Given the description of an element on the screen output the (x, y) to click on. 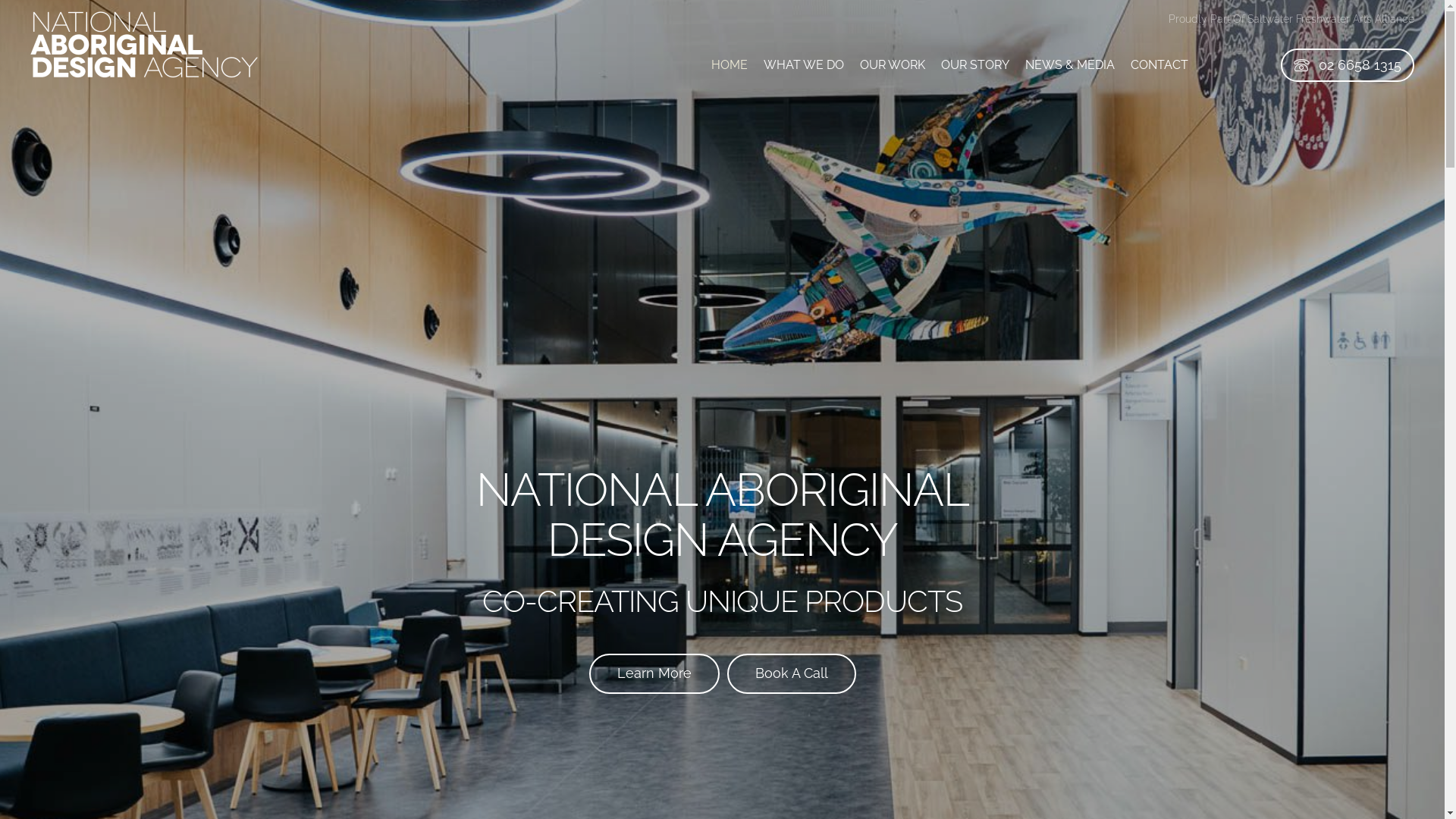
CONTACT Element type: text (1159, 64)
HOME Element type: text (729, 64)
WHAT WE DO Element type: text (803, 64)
Learn More Element type: text (653, 673)
Book A Call Element type: text (790, 673)
Saltwater Freshwater Arts Alliance Element type: text (1330, 18)
NEWS & MEDIA Element type: text (1069, 64)
02 6658 1315 Element type: text (1347, 65)
OUR WORK Element type: text (892, 64)
OUR STORY Element type: text (974, 64)
